Given the description of an element on the screen output the (x, y) to click on. 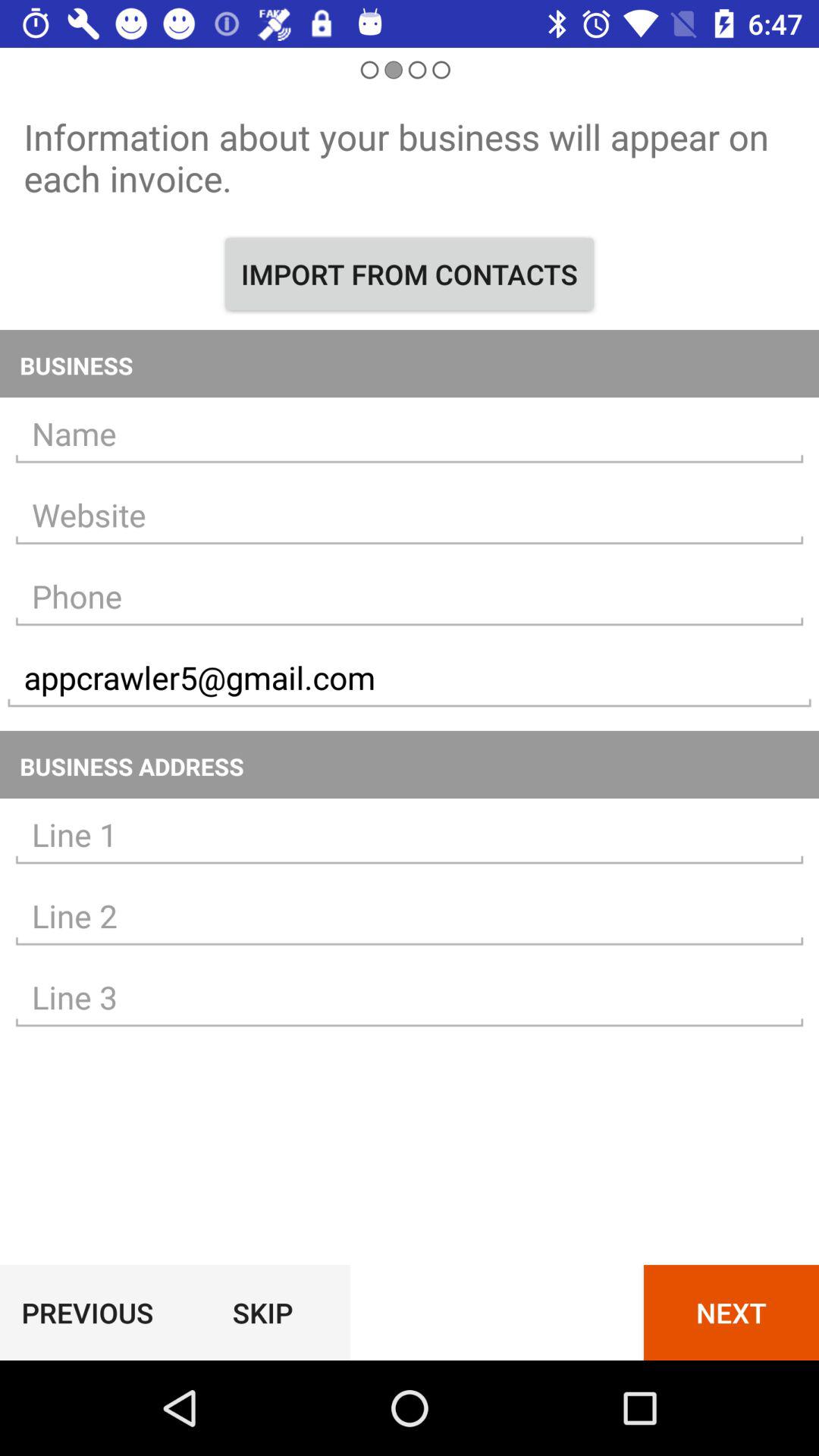
flip until the previous icon (87, 1312)
